Given the description of an element on the screen output the (x, y) to click on. 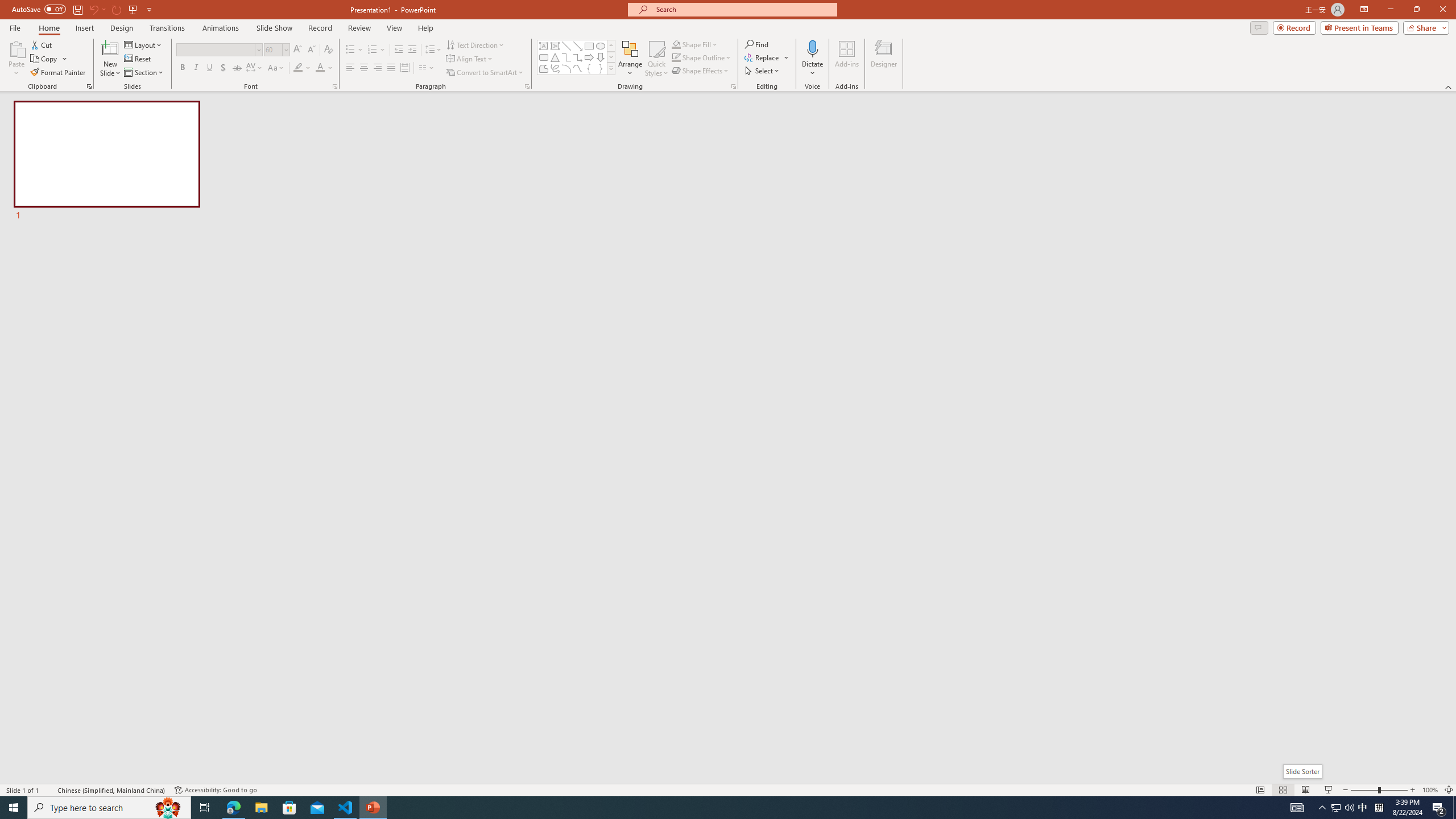
Increase Font Size (297, 49)
Paragraph... (526, 85)
Dictate (812, 58)
AutoSave (38, 9)
Freeform: Scribble (554, 68)
Convert to SmartArt (485, 72)
Zoom Out (1364, 790)
Numbering (376, 49)
Insert (83, 28)
Format Painter (58, 72)
Clear Formatting (327, 49)
Close (1442, 9)
Arrow: Right (589, 57)
Font (219, 49)
